Given the description of an element on the screen output the (x, y) to click on. 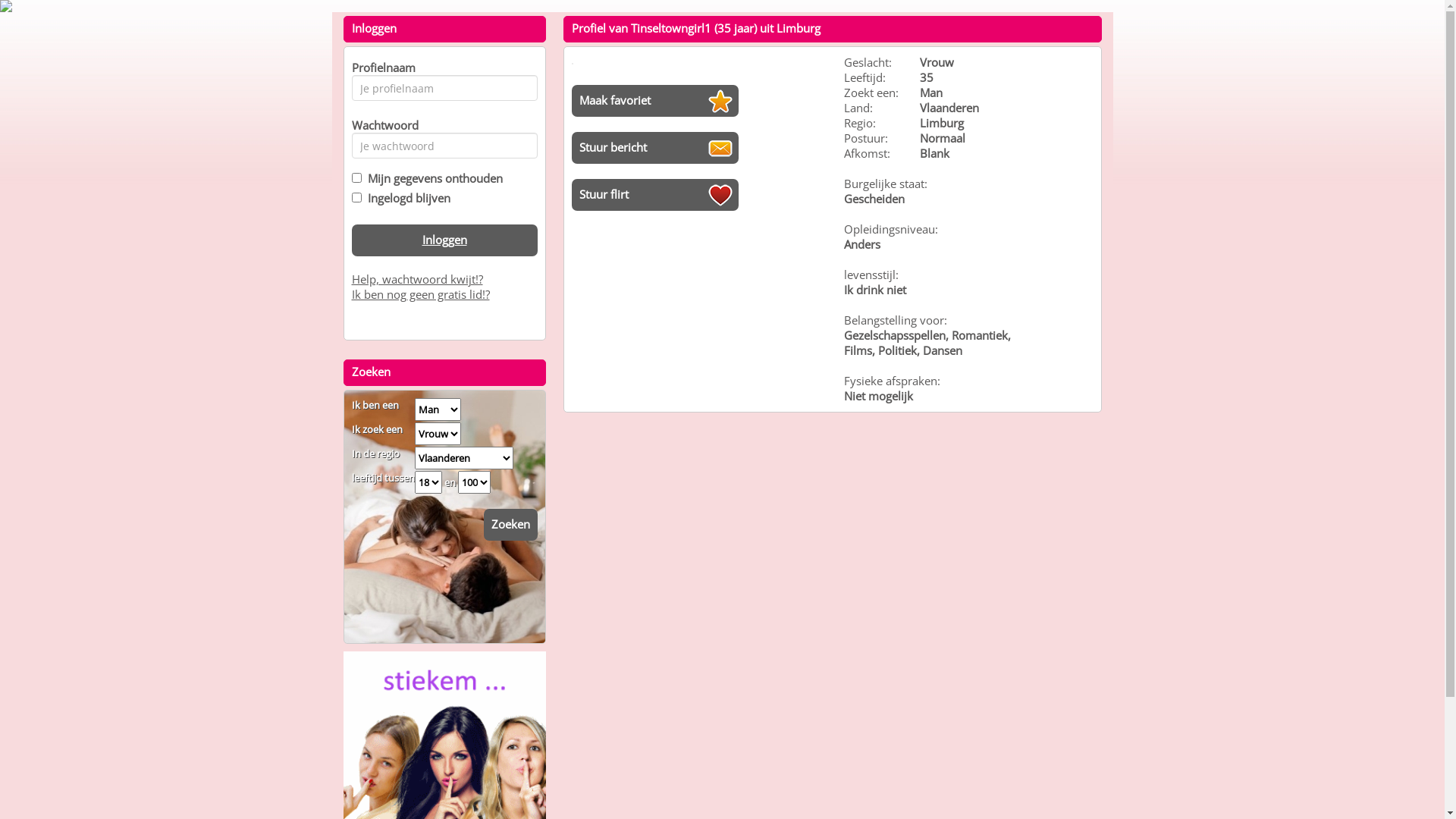
Stuur bericht Element type: text (654, 147)
Ik ben nog geen gratis lid!? Element type: text (420, 293)
Stuur flirt Element type: text (654, 194)
Help, wachtwoord kwijt!? Element type: text (417, 278)
Maak favoriet Element type: text (654, 100)
Zoeken Element type: text (510, 524)
Inloggen Element type: text (444, 240)
